Given the description of an element on the screen output the (x, y) to click on. 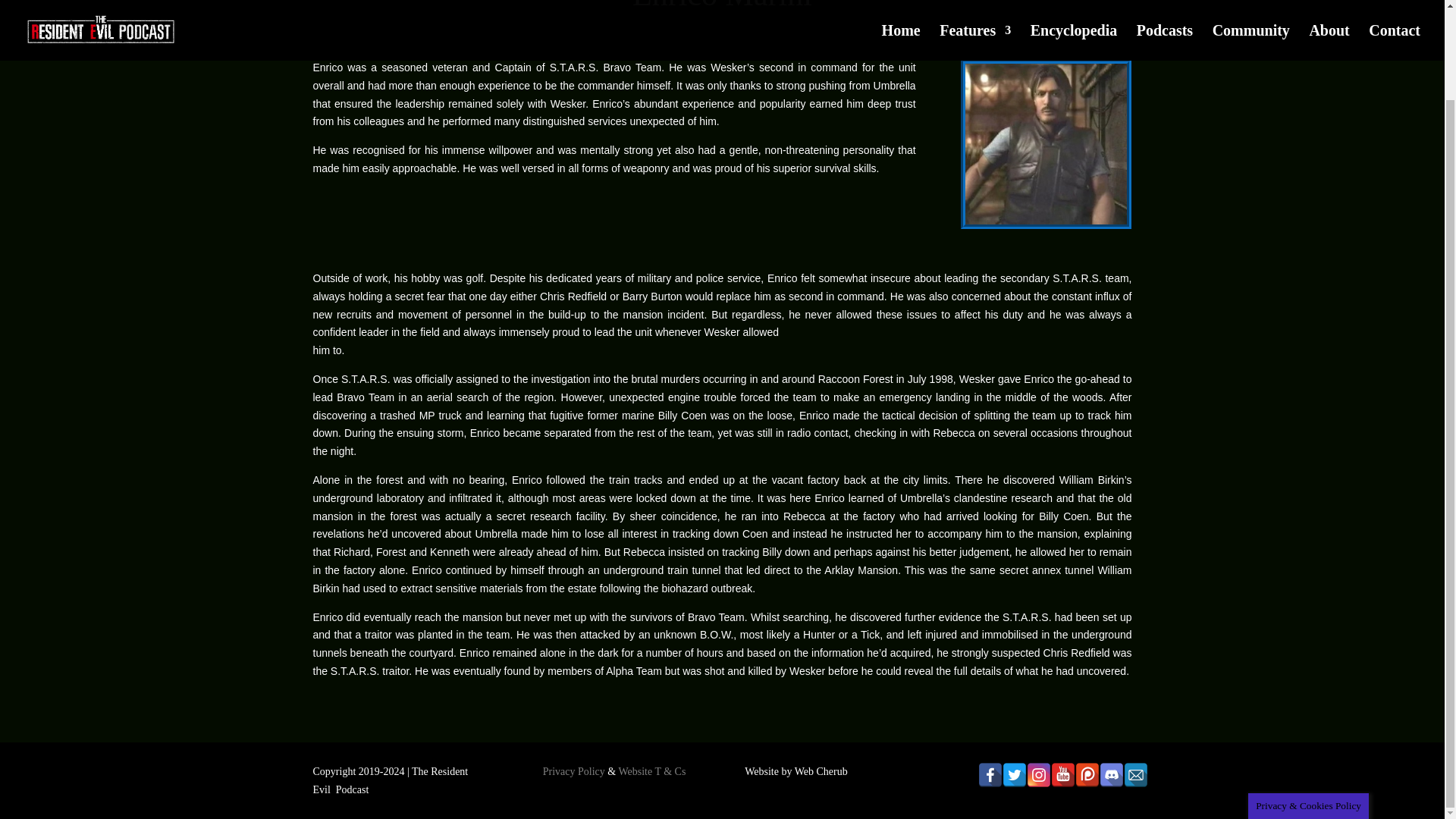
Web Cherub (820, 771)
Twitter (1014, 774)
Facebook (990, 774)
Patreon (1087, 774)
Discord (1111, 774)
Instagram (1038, 774)
Privacy Policy (574, 771)
YouTube (1063, 774)
Web Cherub (820, 771)
enricomarini (1045, 143)
Email (1136, 774)
